Given the description of an element on the screen output the (x, y) to click on. 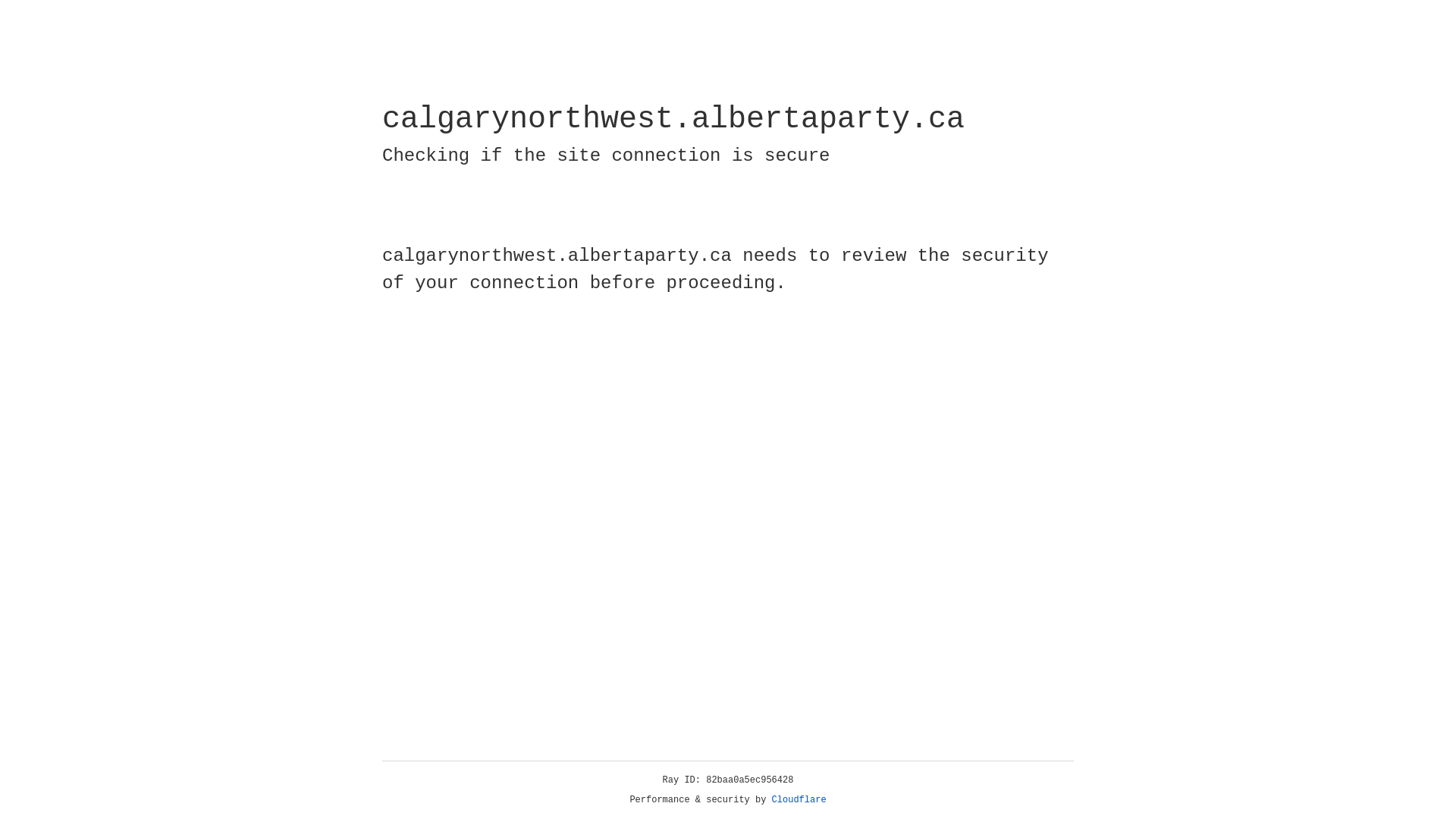
Cloudflare Element type: text (798, 799)
